Given the description of an element on the screen output the (x, y) to click on. 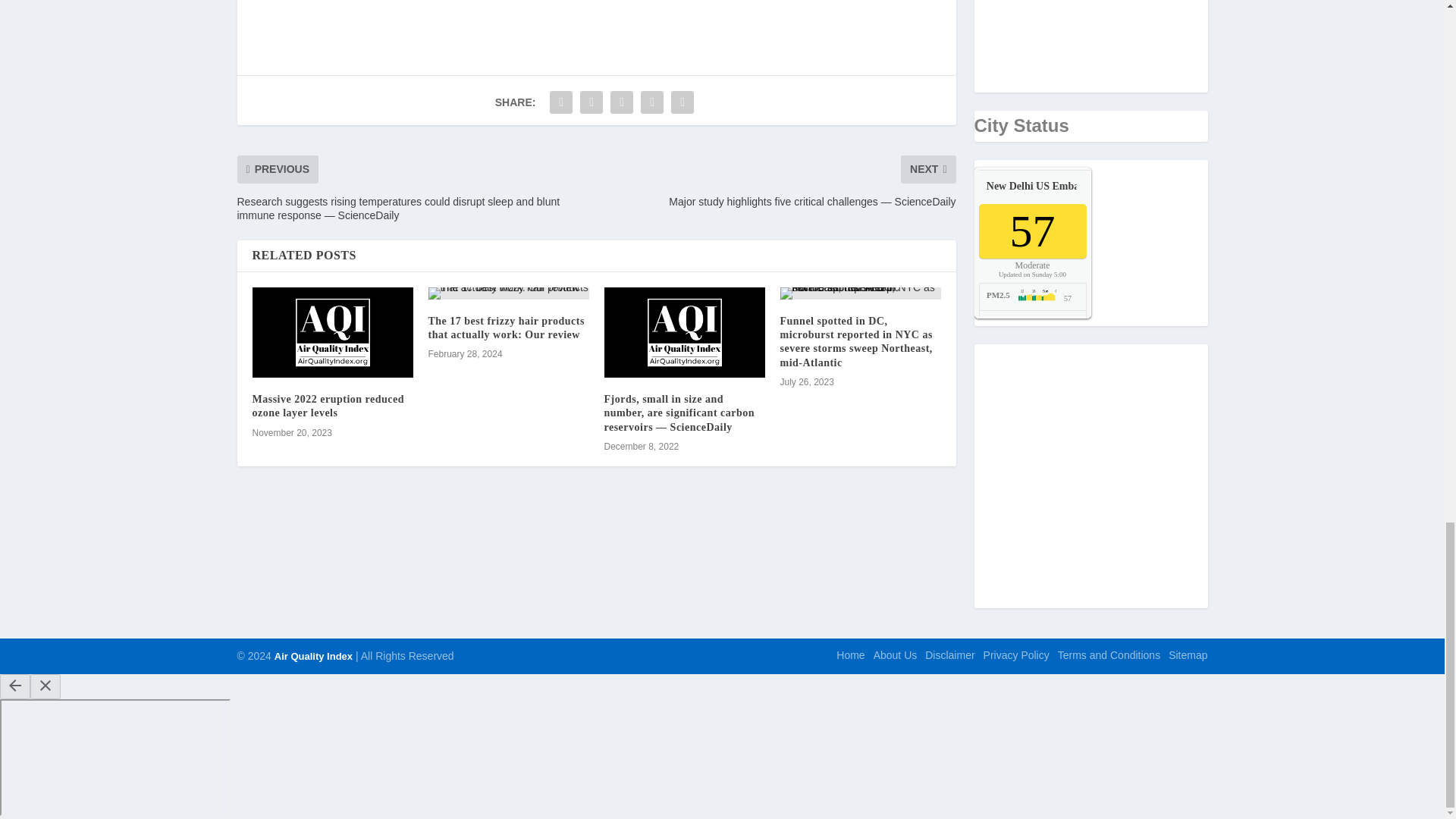
Massive 2022 eruption reduced ozone layer levels (331, 332)
Massive 2022 eruption reduced ozone layer levels (327, 405)
